Given the description of an element on the screen output the (x, y) to click on. 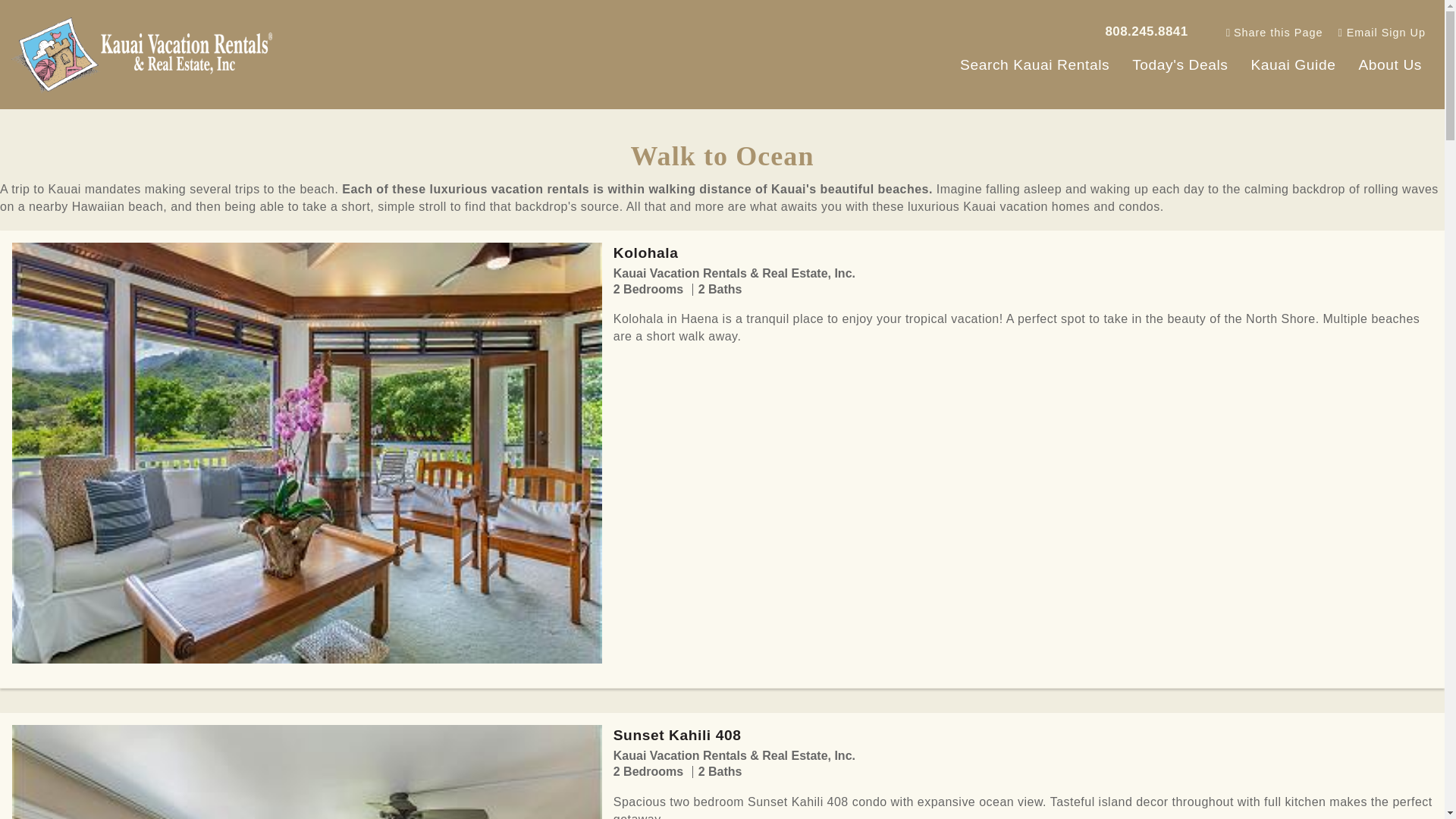
Share this Page (1274, 32)
808.245.8841 (1146, 29)
Search Kauai Rentals (1035, 66)
Email Sign Up (1381, 32)
Home (147, 52)
